Given the description of an element on the screen output the (x, y) to click on. 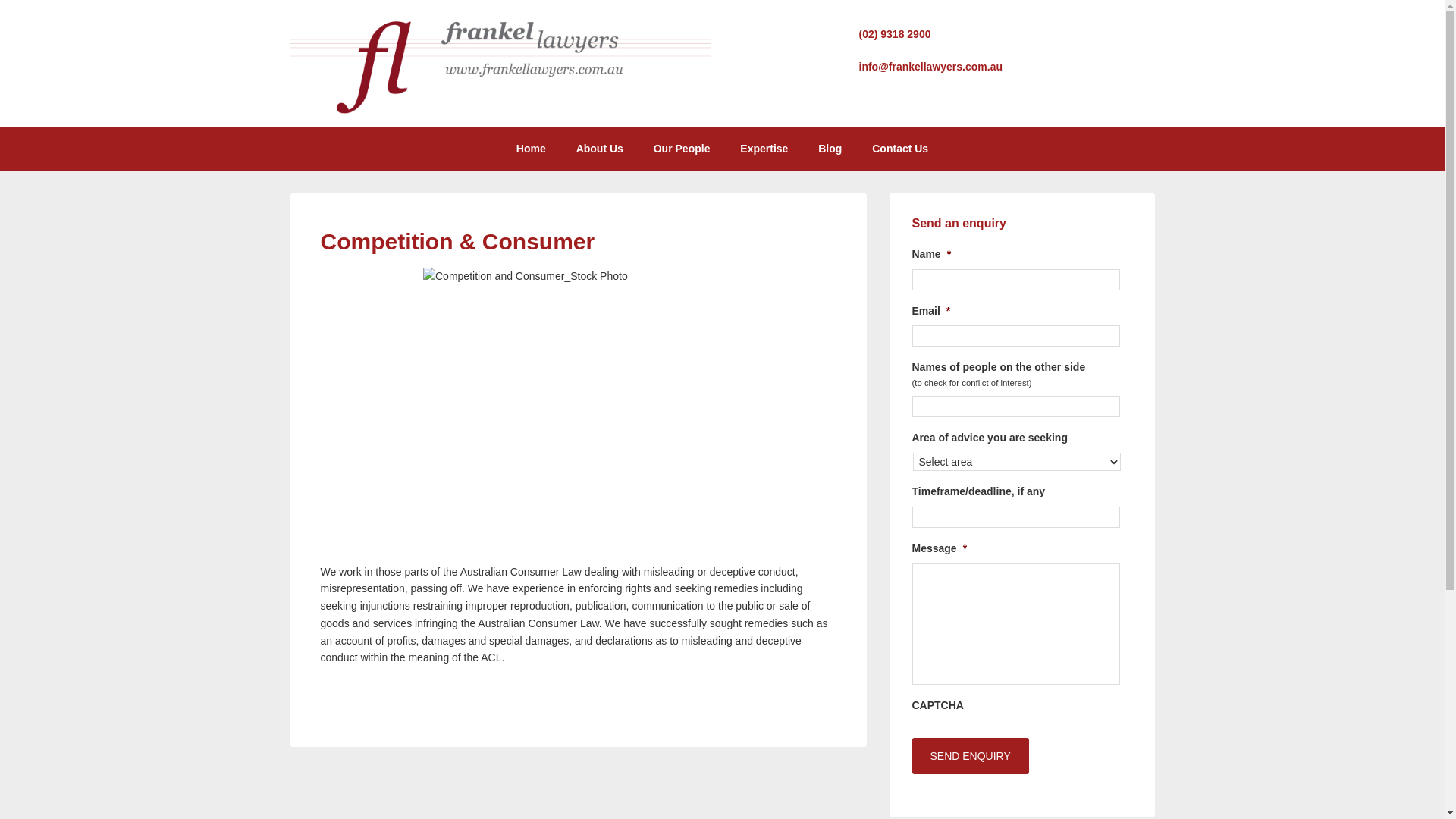
Our People Element type: text (682, 148)
info@frankellawyers.com.au Element type: text (930, 66)
Send enquiry Element type: text (969, 755)
Contact Us Element type: text (899, 148)
Blog Element type: text (829, 148)
Home Element type: text (530, 148)
(02) 9318 2900 Element type: text (894, 34)
Expertise Element type: text (763, 148)
Frankel Lawyers Element type: hover (499, 110)
About Us Element type: text (599, 148)
